Given the description of an element on the screen output the (x, y) to click on. 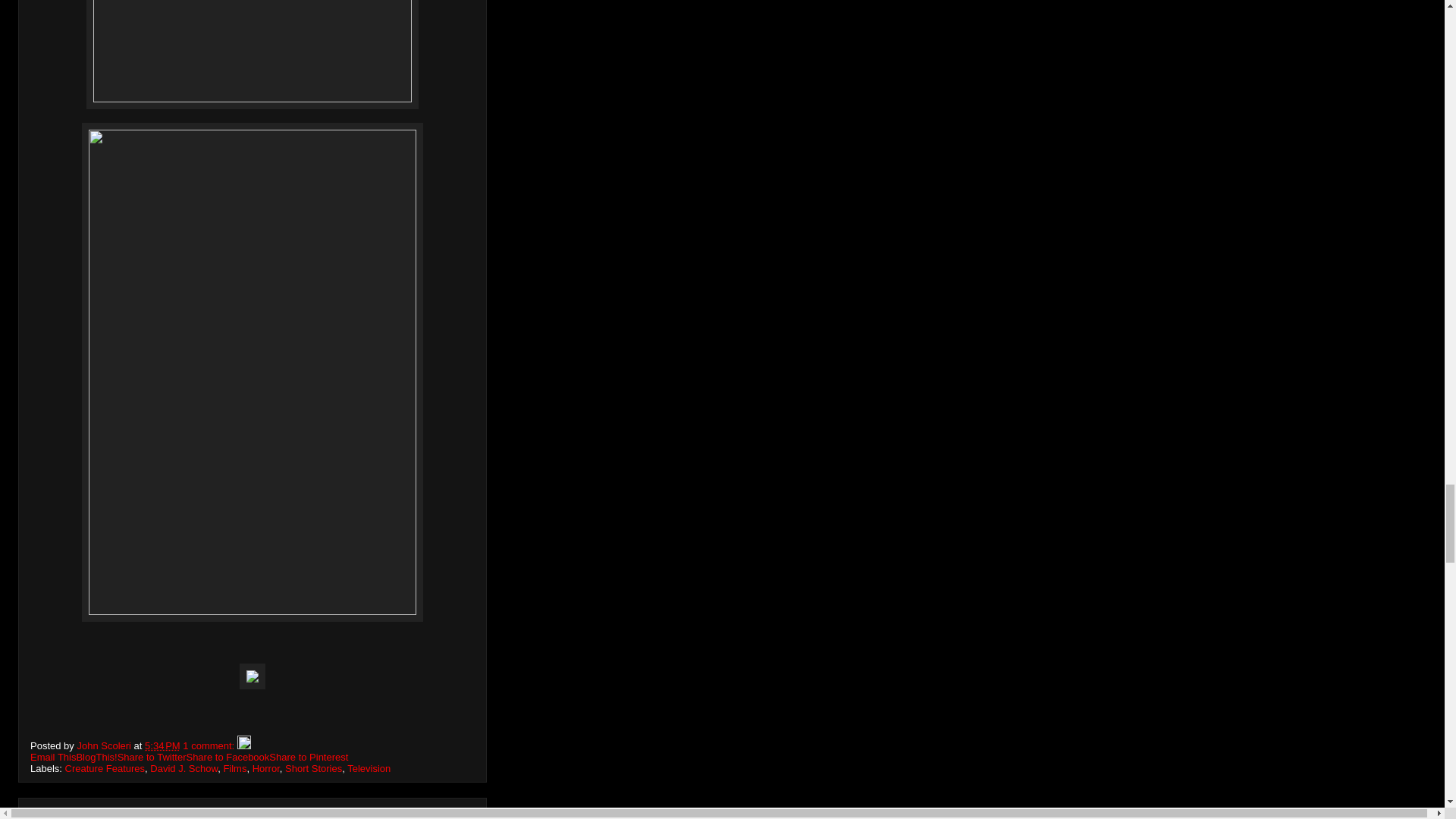
Films (234, 767)
Newer Posts (63, 814)
Share to Pinterest (308, 756)
David J. Schow (182, 767)
BlogThis! (95, 756)
BlogThis! (95, 756)
Share to Twitter (151, 756)
Edit Post (243, 745)
Television (368, 767)
Email This (52, 756)
author profile (105, 745)
Newer Posts (63, 814)
John Scoleri (105, 745)
Share to Facebook (227, 756)
